Given the description of an element on the screen output the (x, y) to click on. 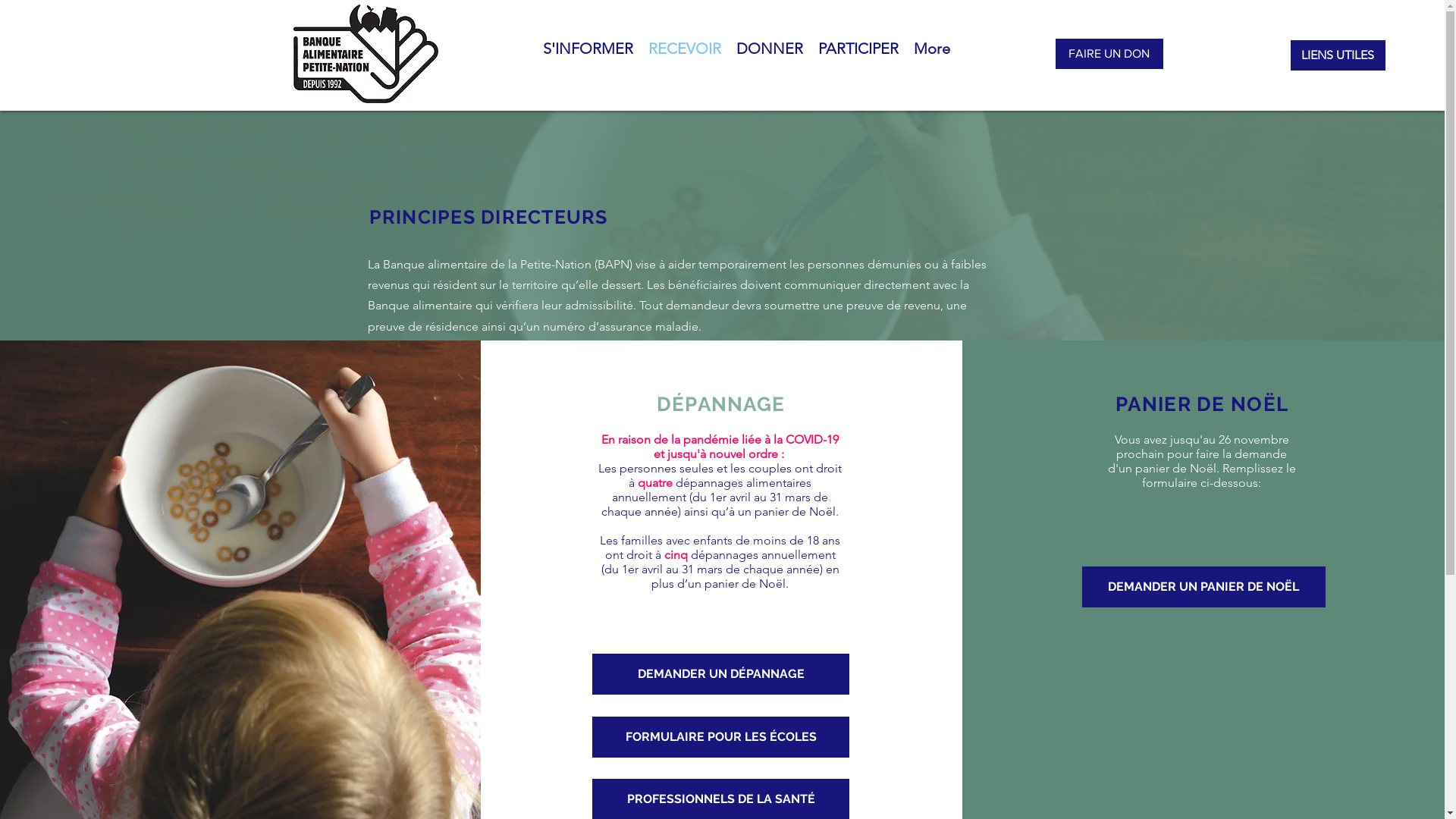
LIENS UTILES Element type: text (1337, 55)
RECEVOIR Element type: text (684, 56)
PARTICIPER Element type: text (857, 56)
FAIRE UN DON Element type: text (1109, 53)
S'INFORMER Element type: text (587, 56)
DONNER Element type: text (768, 56)
